Given the description of an element on the screen output the (x, y) to click on. 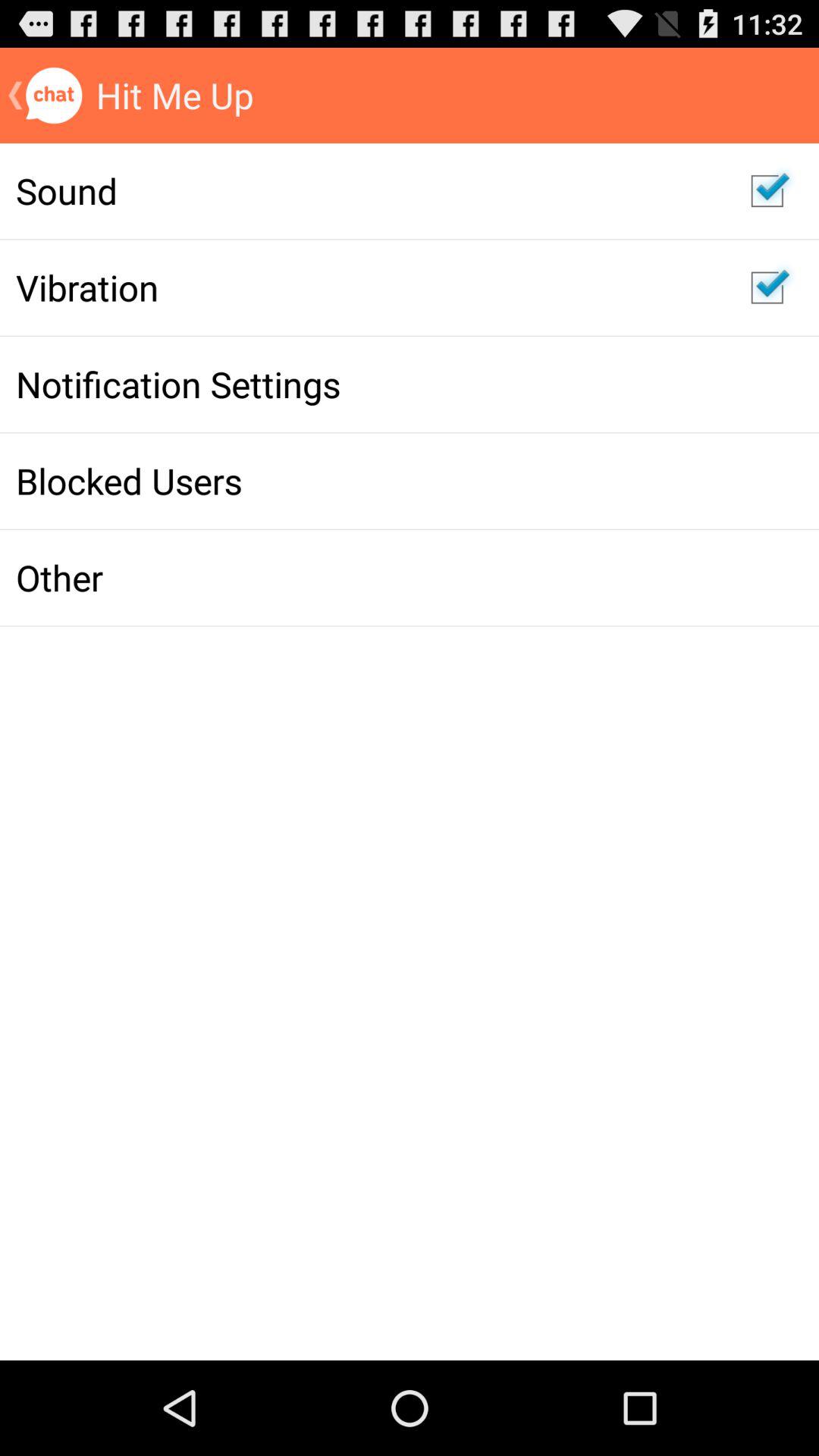
select other item (367, 577)
